Given the description of an element on the screen output the (x, y) to click on. 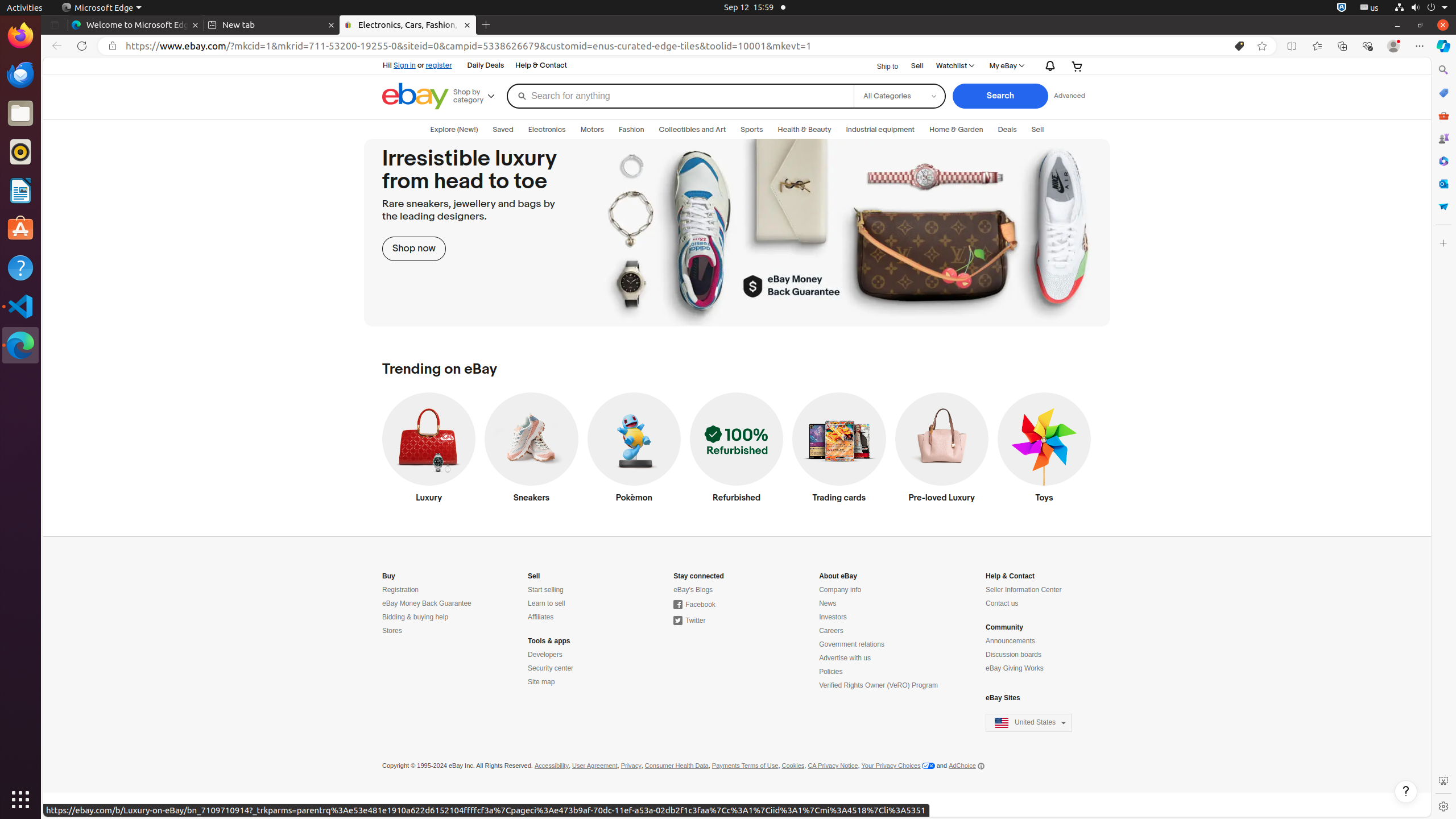
eBay Giving Works Element type: link (1014, 668)
This site has coupons! Shopping in Microsoft Edge Element type: push-button (1238, 46)
Search Element type: push-button (1000, 95)
Health & Beauty Element type: link (804, 129)
Settings Element type: push-button (1443, 806)
